Given the description of an element on the screen output the (x, y) to click on. 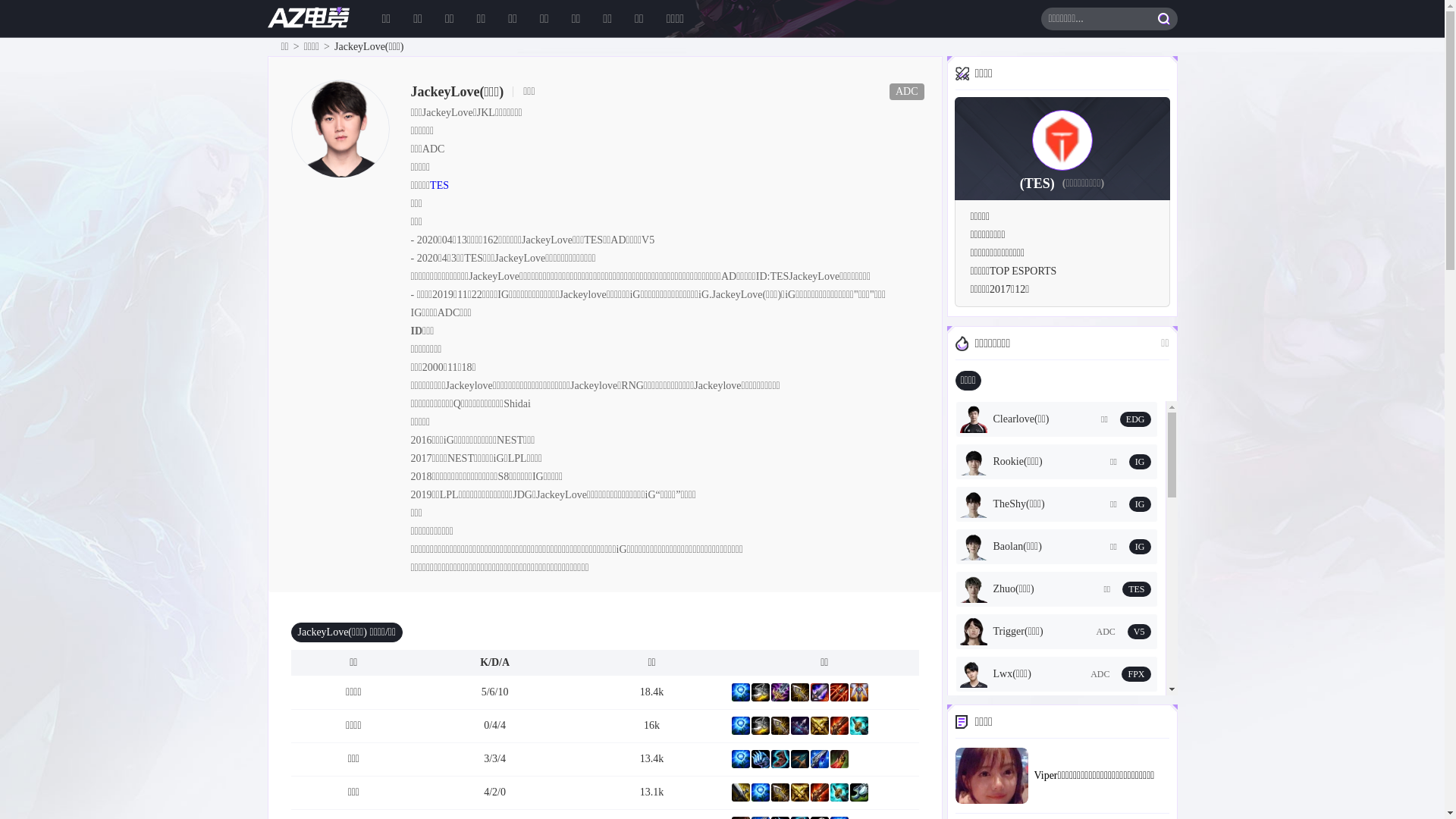
TES Element type: text (438, 185)
